Given the description of an element on the screen output the (x, y) to click on. 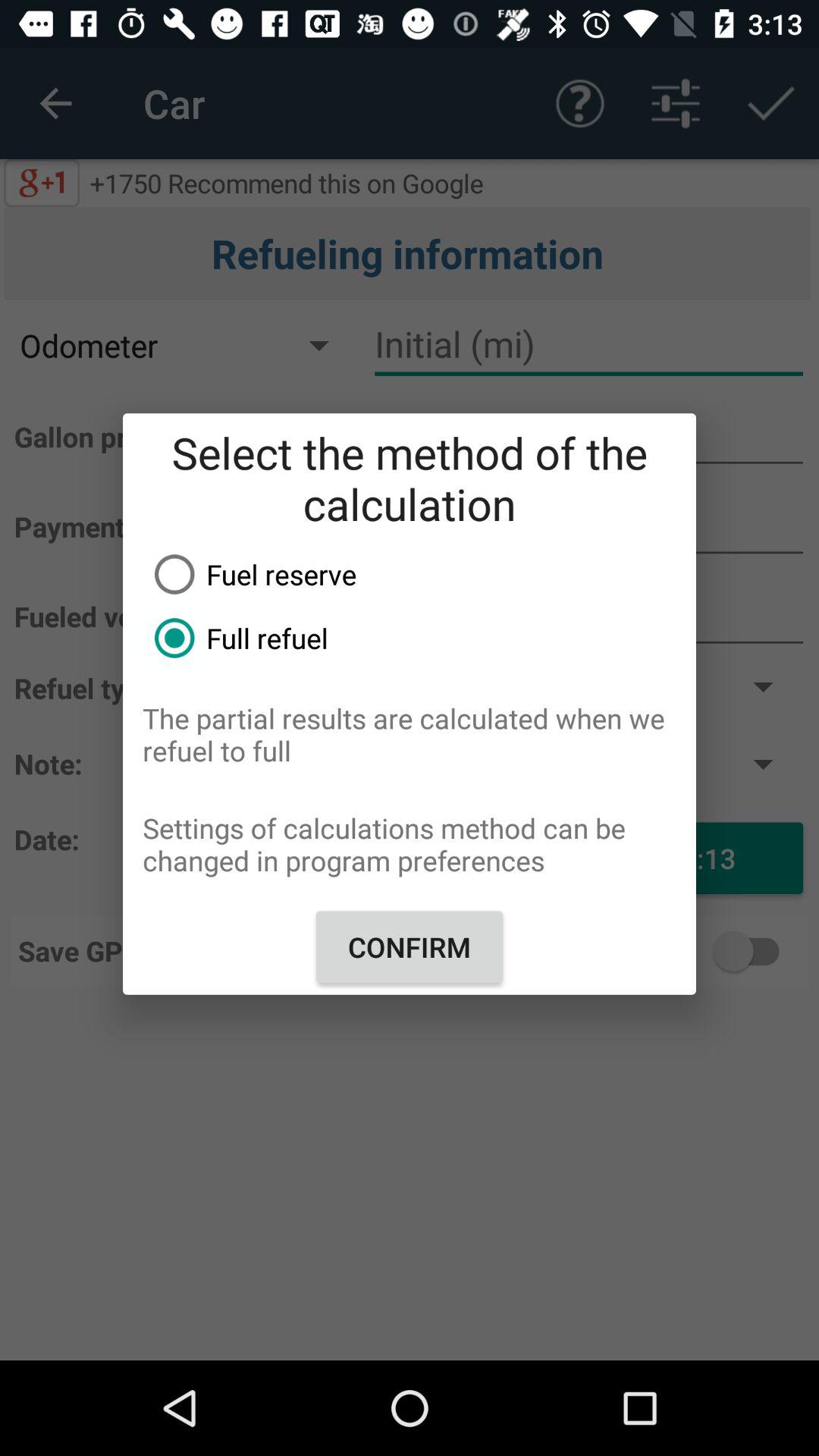
choose item above the full refuel icon (419, 574)
